Given the description of an element on the screen output the (x, y) to click on. 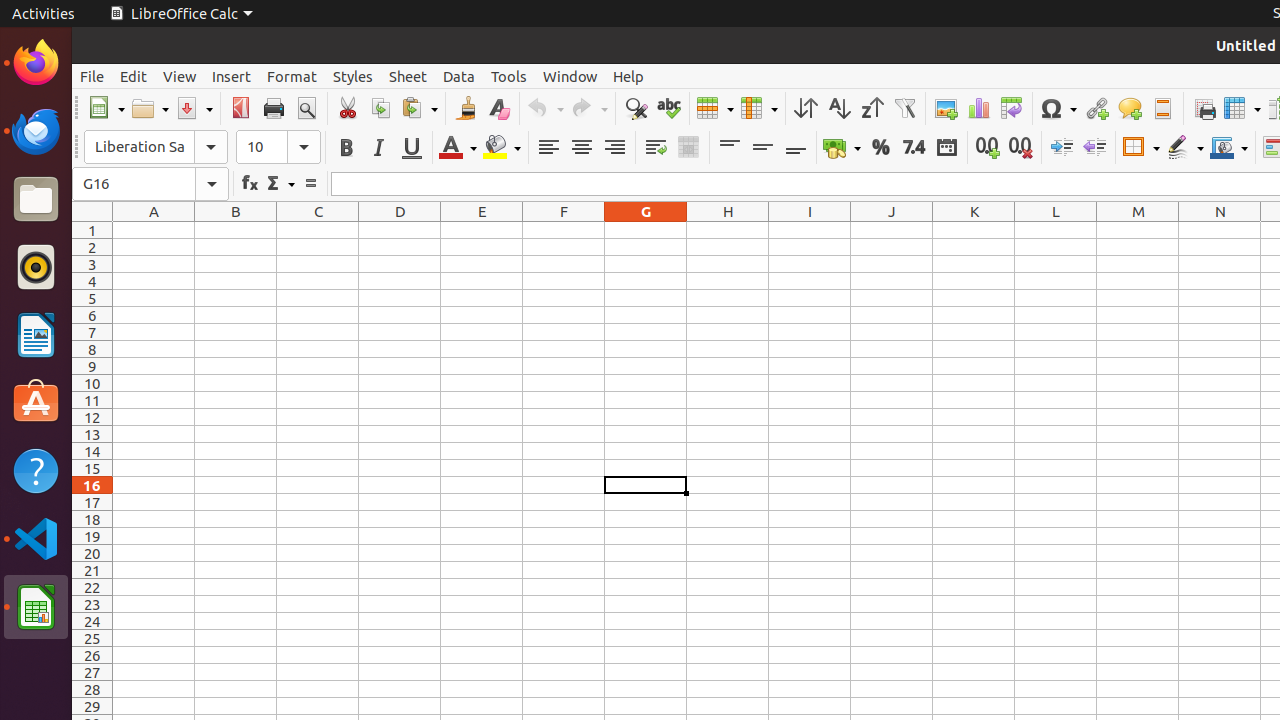
Percent Element type: push-button (880, 147)
Styles Element type: menu (353, 76)
Format Element type: menu (292, 76)
Background Color Element type: push-button (502, 147)
Borders (Shift to overwrite) Element type: push-button (1141, 147)
